Given the description of an element on the screen output the (x, y) to click on. 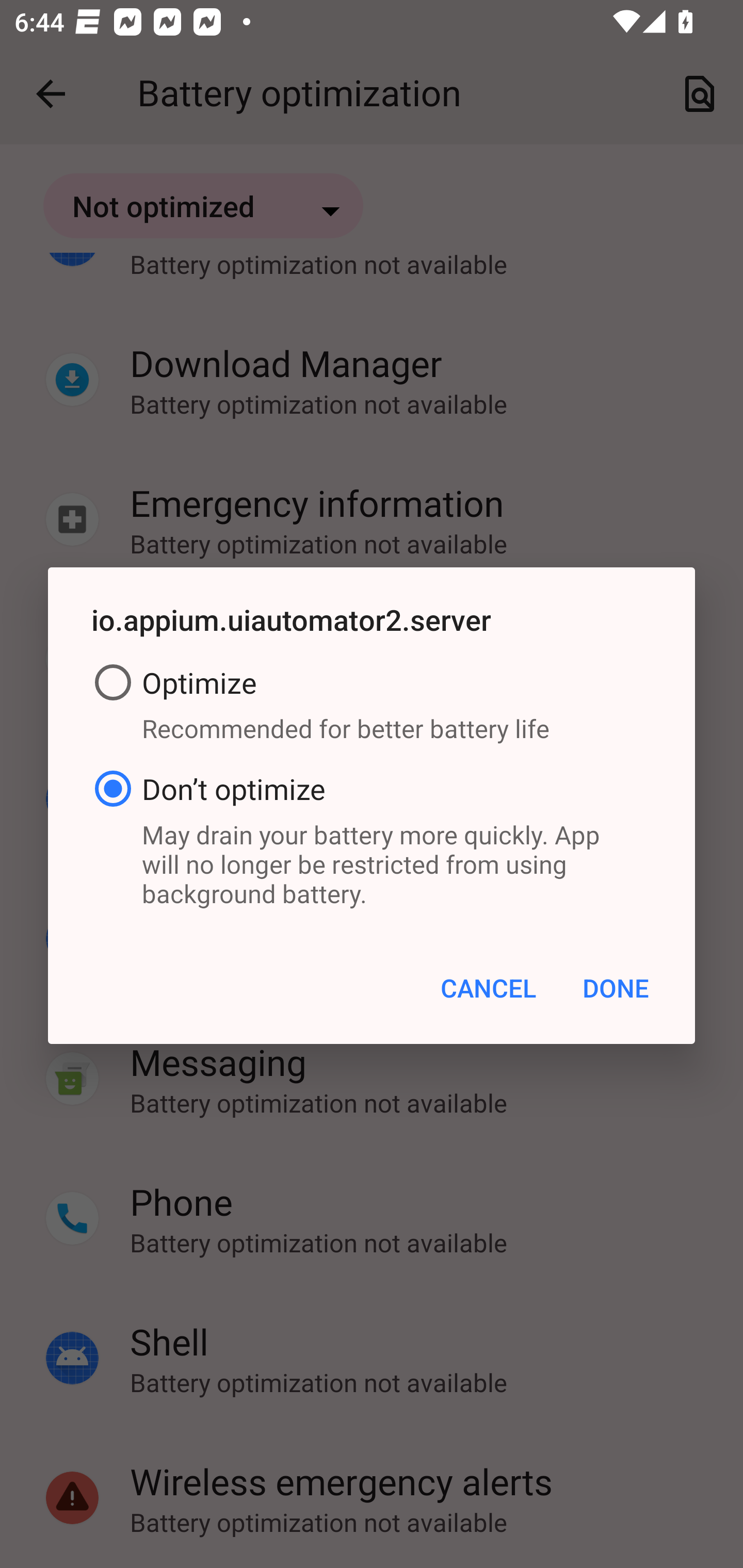
Optimize Recommended for better battery life (371, 706)
CANCEL (488, 987)
DONE (615, 987)
